Given the description of an element on the screen output the (x, y) to click on. 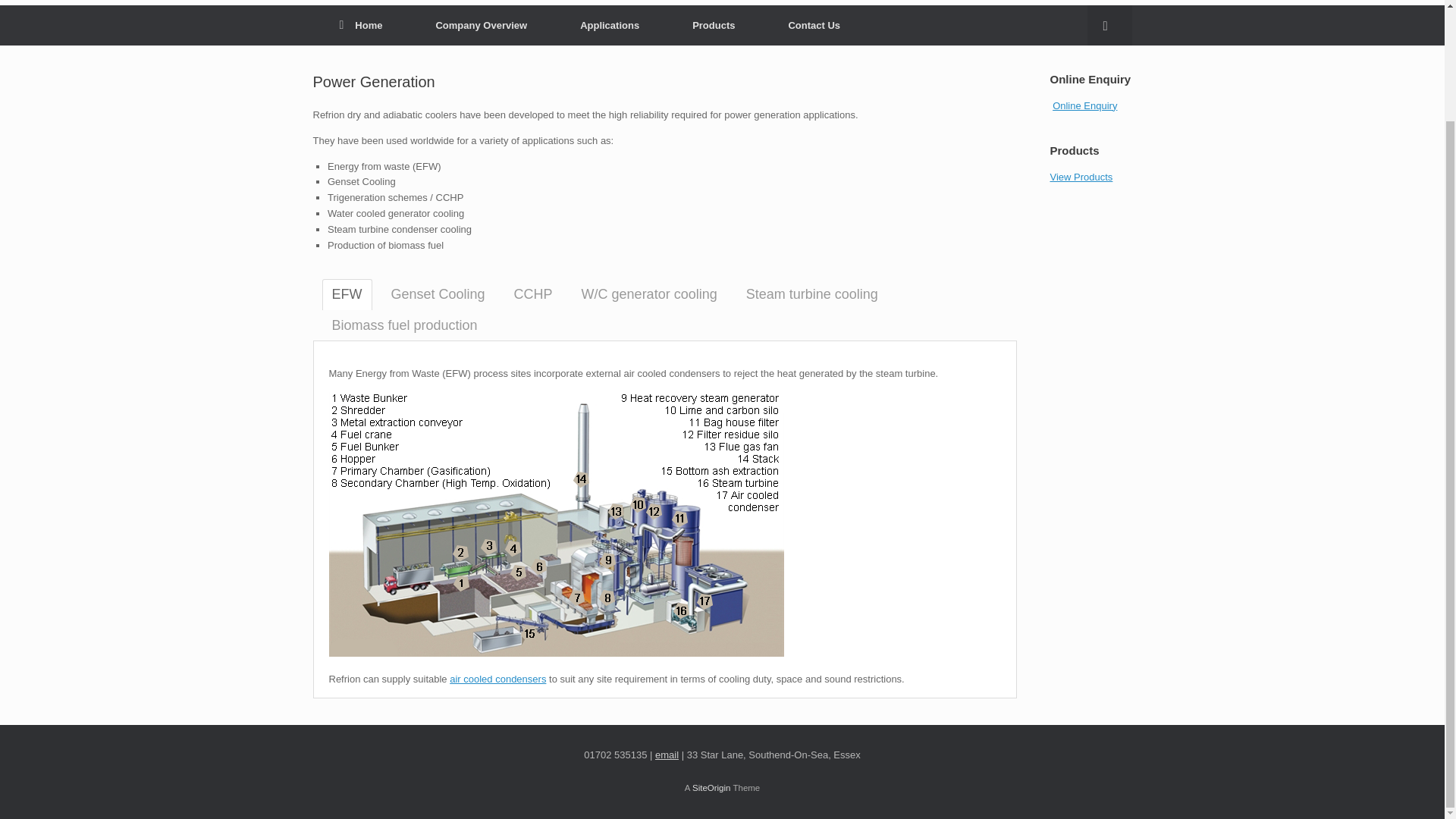
Company Overview (481, 24)
Home (361, 24)
Applications (609, 24)
air cooled condensers (497, 678)
View Products (1080, 175)
email (666, 754)
Products (713, 24)
Online Enquiry (1084, 104)
Contact Us (813, 24)
SiteOrigin (711, 787)
